Given the description of an element on the screen output the (x, y) to click on. 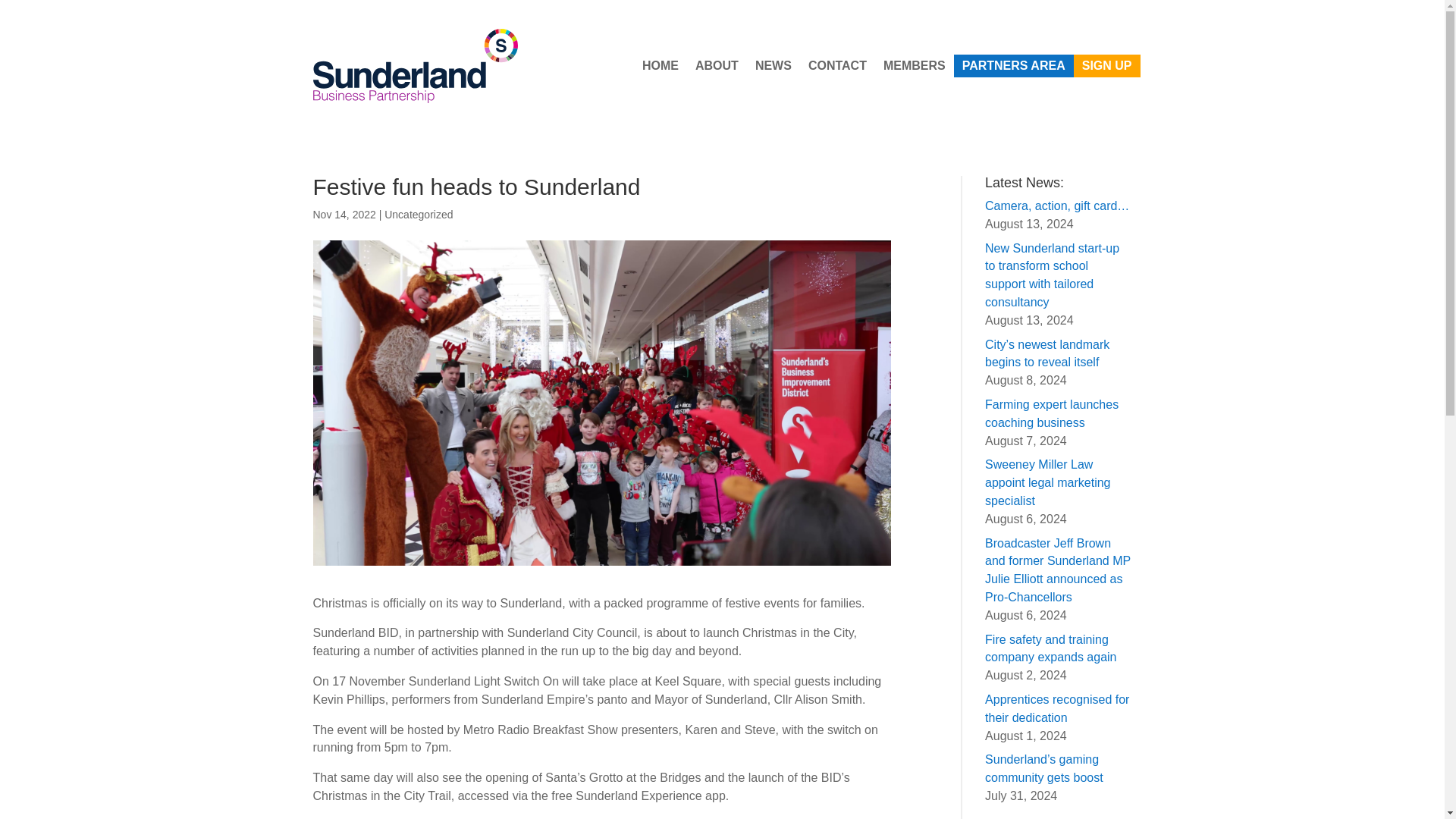
SIGN UP (1106, 65)
Sweeney Miller Law appoint legal marketing specialist (1047, 481)
MEMBERS (913, 65)
Farming expert launches coaching business (1051, 413)
Uncategorized (418, 214)
Fire safety and training company expands again  (1052, 648)
Apprentices recognised for their dedication (1057, 707)
PARTNERS AREA (1013, 65)
